Given the description of an element on the screen output the (x, y) to click on. 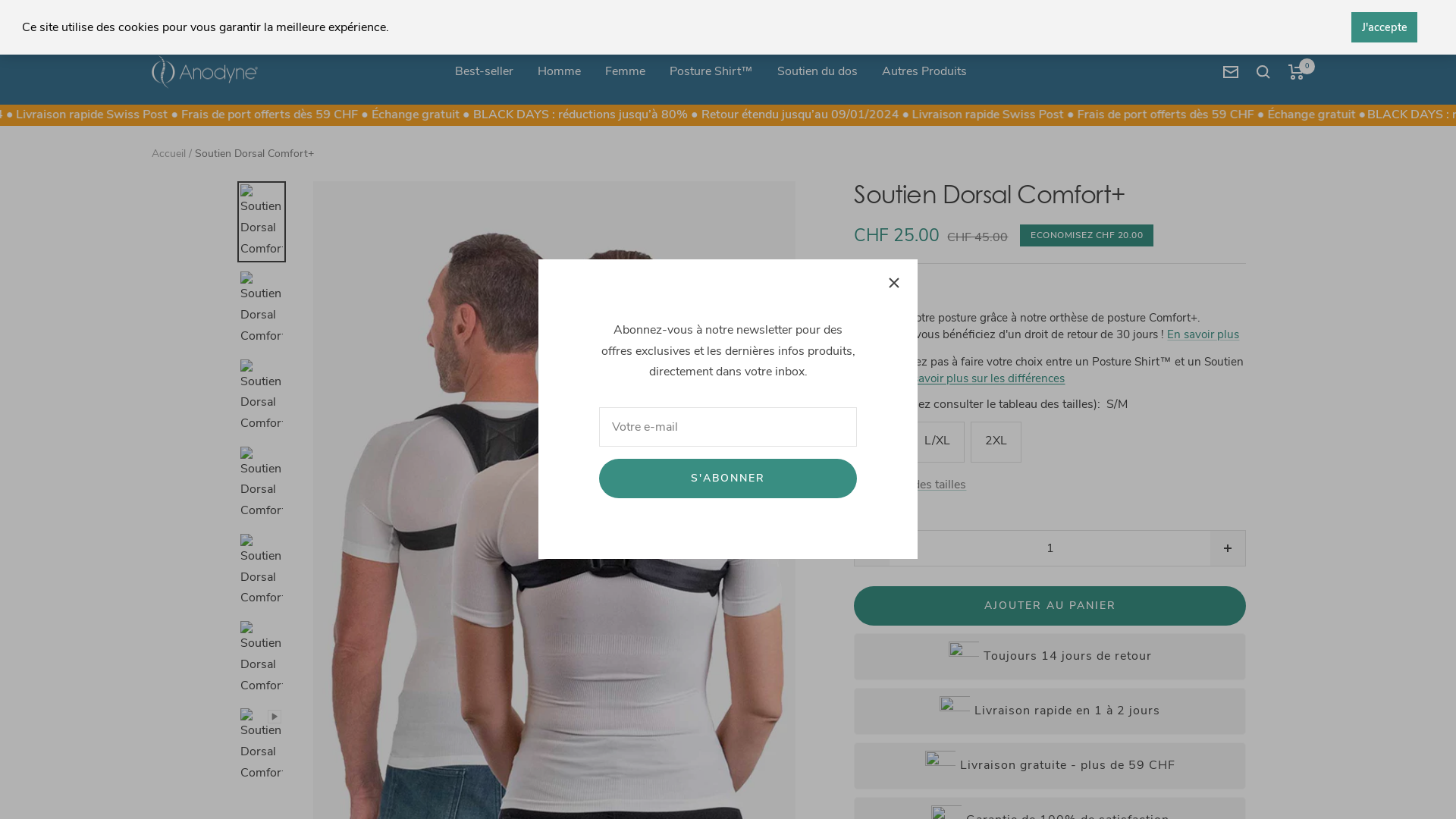
Newsletter Element type: text (1230, 71)
En savoir plus Element type: text (1203, 334)
S'ABONNER Element type: text (727, 478)
Fermer Element type: hover (893, 282)
fr.anodyne.ch Element type: text (204, 72)
Trustpilot Element type: text (727, 19)
Guide des tailles Element type: text (909, 484)
AJOUTER AU PANIER Element type: text (1049, 605)
J'accepte Element type: text (1384, 27)
Autres Produits Element type: text (923, 71)
Soutien du dos Element type: text (816, 71)
Femme Element type: text (625, 71)
Homme Element type: text (558, 71)
Best-seller Element type: text (484, 71)
0 Element type: text (1296, 71)
Trustpilot Element type: text (879, 291)
Accueil Element type: text (168, 153)
